Given the description of an element on the screen output the (x, y) to click on. 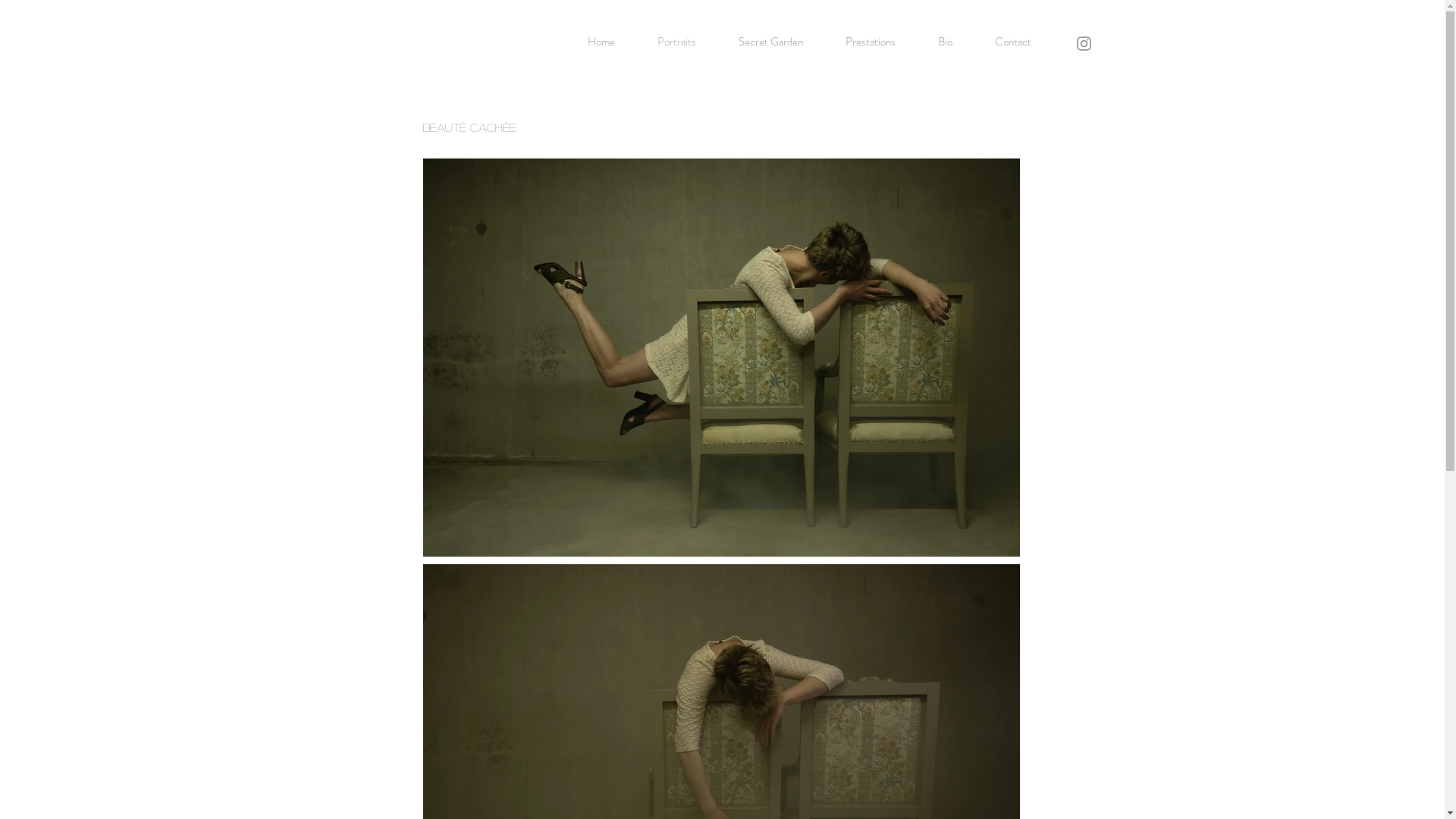
Secret Garden Element type: text (770, 41)
Bio Element type: text (944, 41)
Prestations Element type: text (869, 41)
Portraits Element type: text (675, 41)
Contact Element type: text (1012, 41)
Home Element type: text (601, 41)
